Given the description of an element on the screen output the (x, y) to click on. 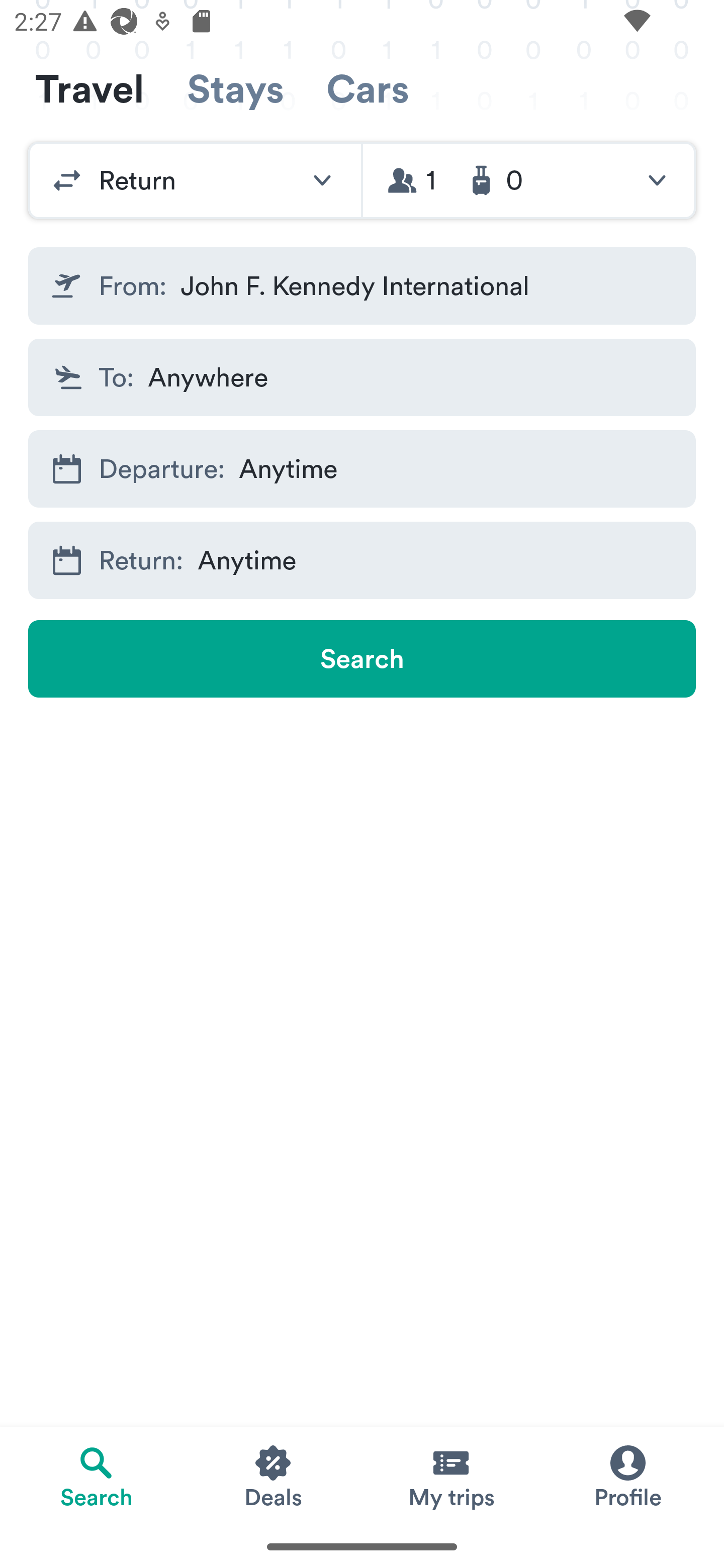
Travel (89, 89)
Stays (235, 89)
Cars (367, 89)
Return (194, 179)
Passengers 1 Bags 0 (528, 179)
From: John F. Kennedy International (361, 285)
To: Anywhere (361, 377)
Departure: Anytime (361, 468)
Return: Anytime (361, 559)
Search (361, 658)
Deals (273, 1475)
My trips (450, 1475)
Profile (627, 1475)
